Given the description of an element on the screen output the (x, y) to click on. 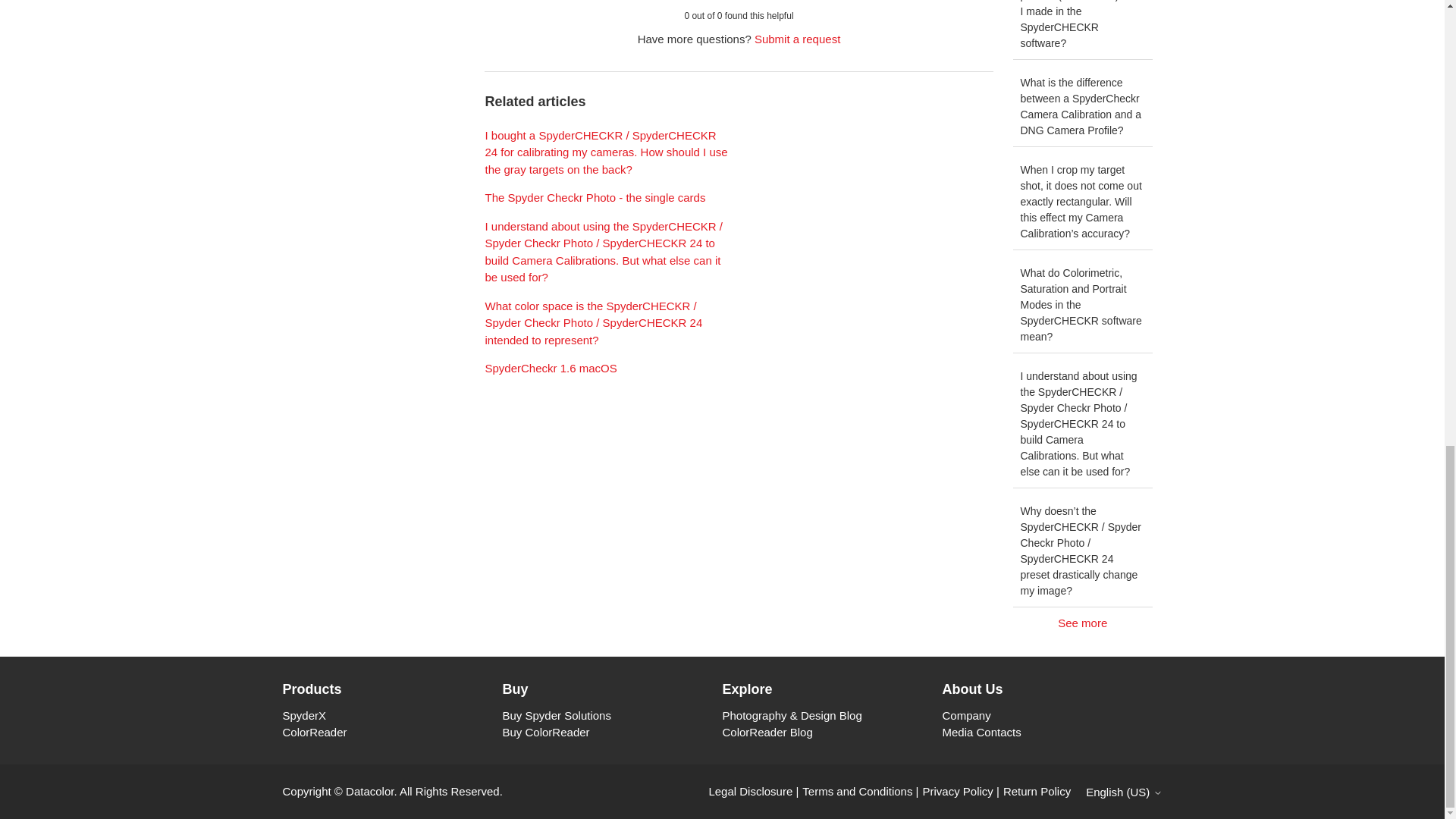
SpyderX (304, 715)
Product (392, 688)
SpyderX (304, 715)
See more (1083, 623)
Submit a request (797, 38)
See more (1083, 623)
SpyderCheckr 1.6 macOS (549, 367)
